Given the description of an element on the screen output the (x, y) to click on. 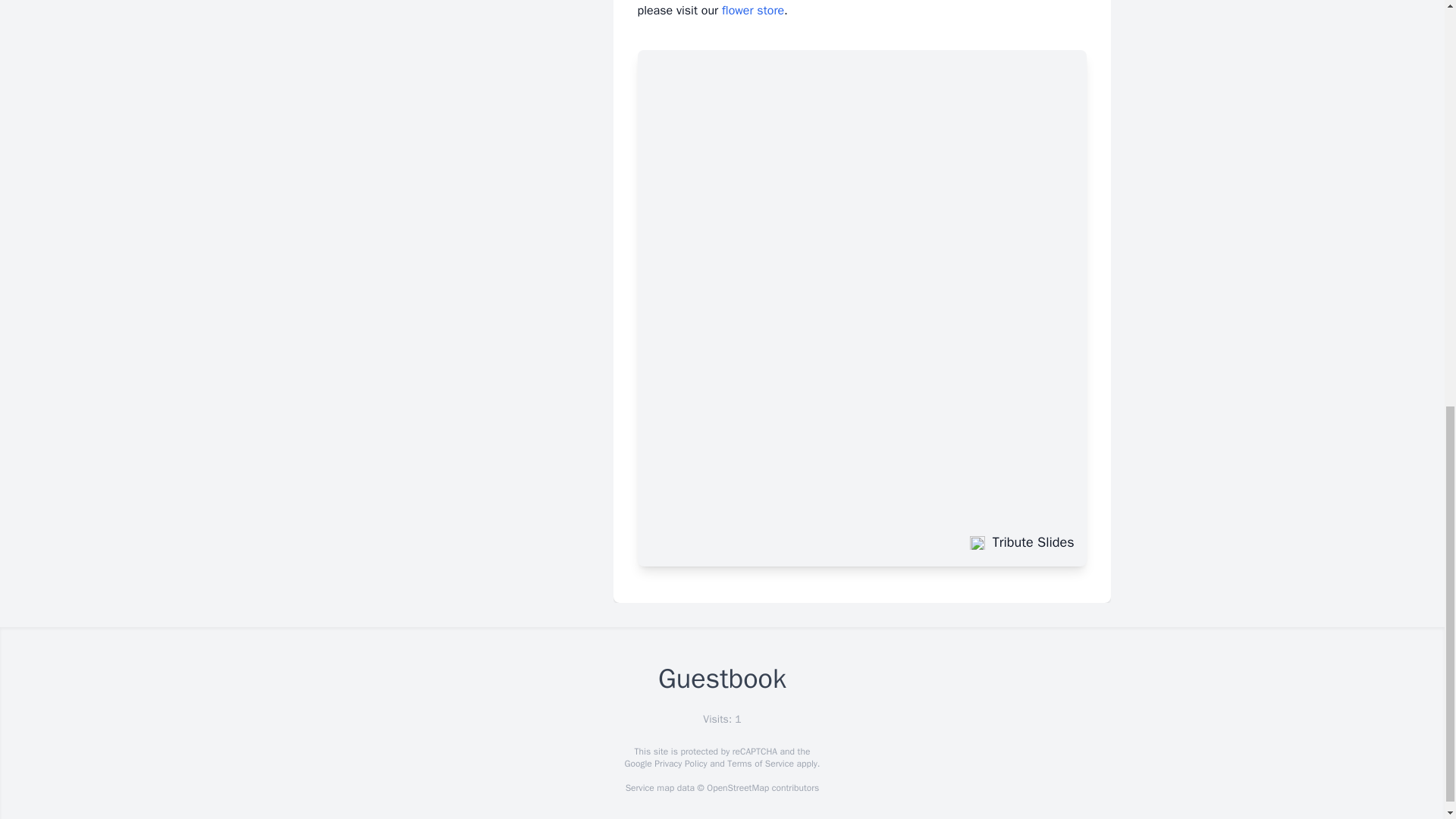
Privacy Policy (679, 763)
Terms of Service (759, 763)
flower store (753, 10)
OpenStreetMap (737, 787)
